Given the description of an element on the screen output the (x, y) to click on. 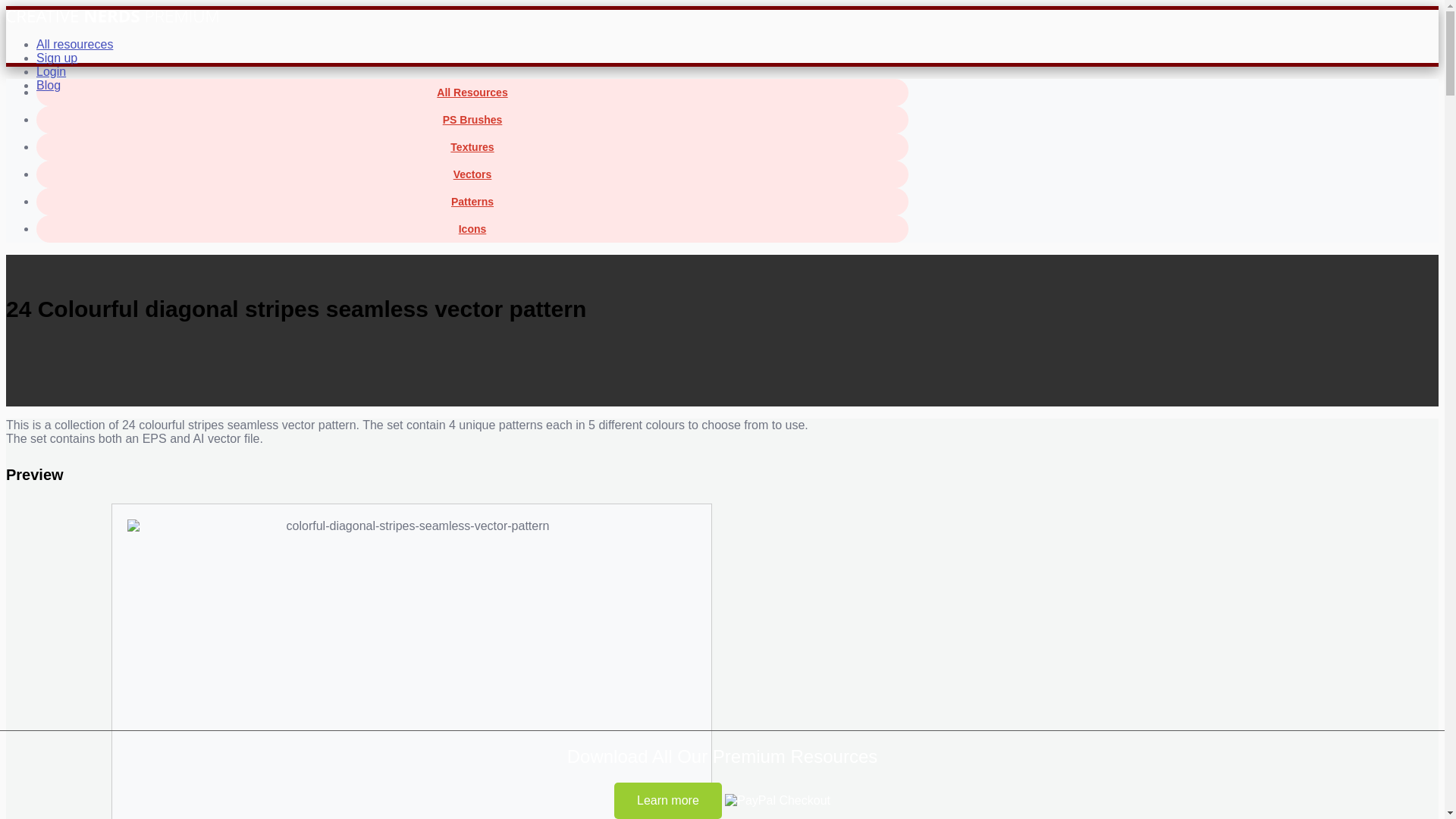
Blog (48, 84)
Sign up (56, 57)
Login (50, 71)
Icons (472, 228)
Vectors (472, 174)
PS Brushes (472, 119)
All resoureces (74, 43)
Patterns (472, 201)
Textures (472, 146)
Learn more (668, 800)
All Resources (472, 92)
